Given the description of an element on the screen output the (x, y) to click on. 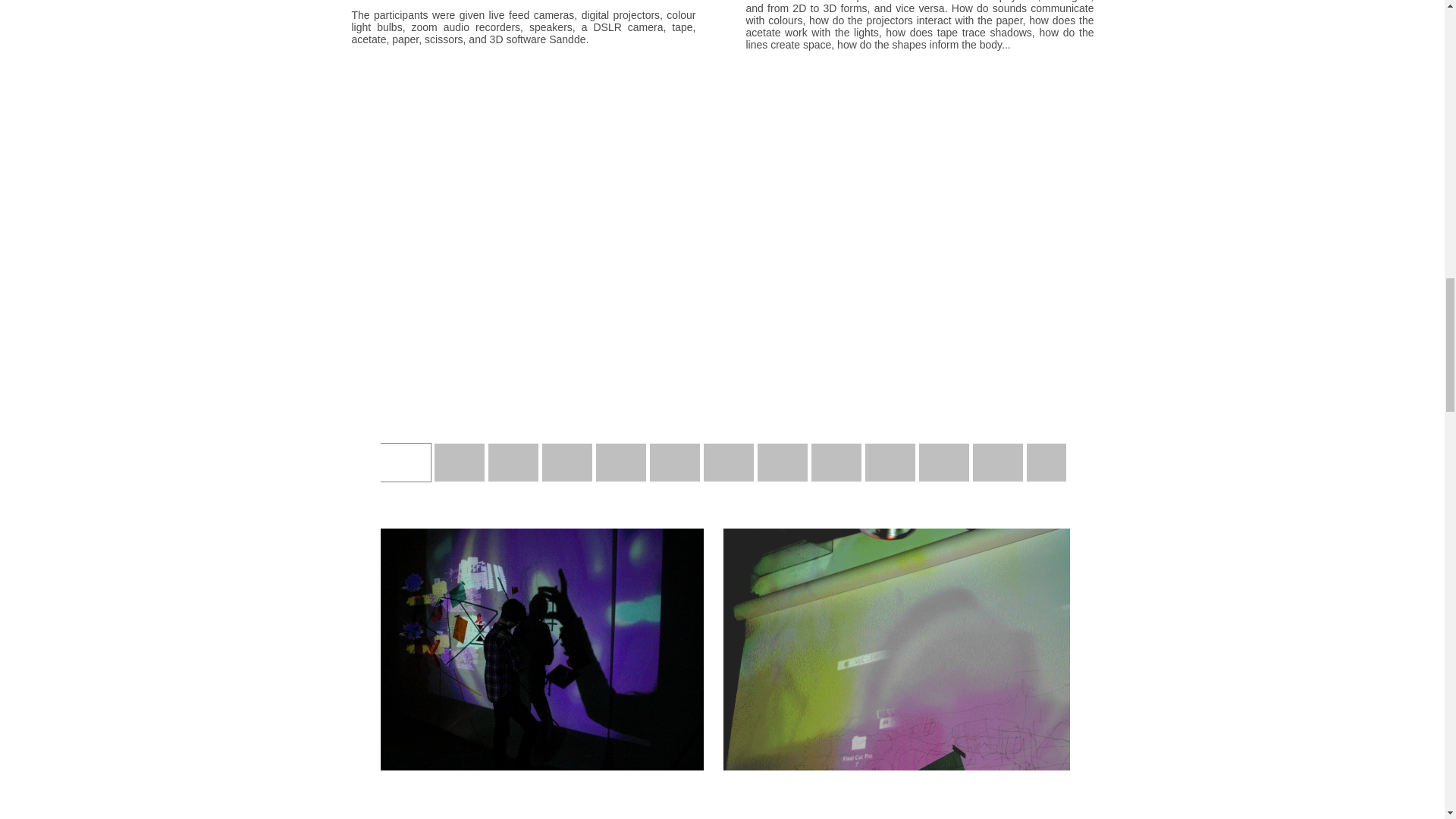
External Vimeo (722, 812)
